Given the description of an element on the screen output the (x, y) to click on. 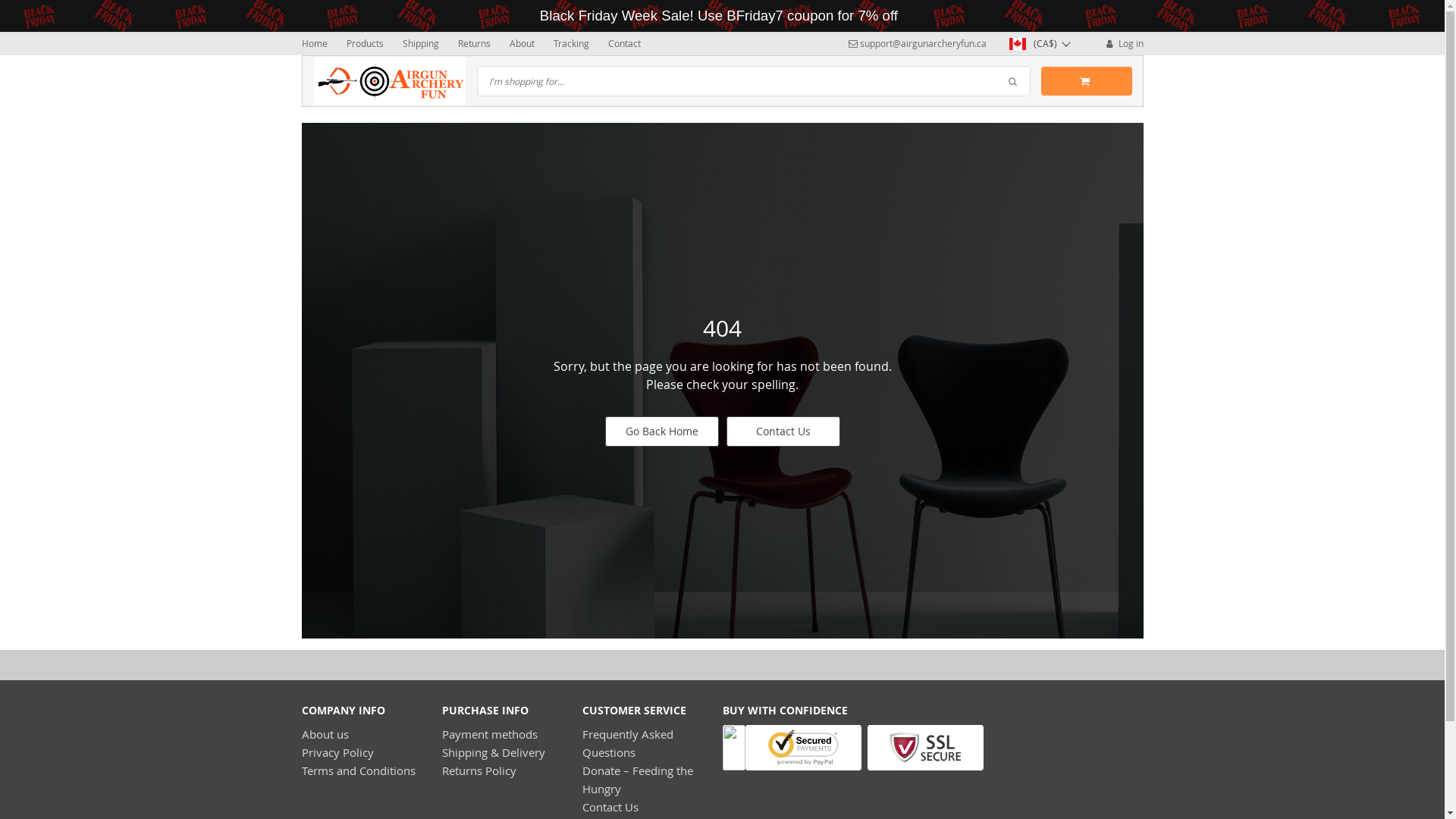
Shipping Element type: text (419, 42)
Frequently Asked Questions Element type: text (627, 742)
Returns Element type: text (474, 42)
Terms and Conditions Element type: text (358, 770)
Log in Element type: text (1123, 43)
Tracking Element type: text (571, 42)
Privacy Policy Element type: text (337, 751)
support@airgunarcheryfun.ca Element type: text (916, 43)
Contact Element type: text (624, 42)
Returns Policy Element type: text (478, 770)
Home Element type: text (314, 42)
Shipping & Delivery Element type: text (492, 751)
Contact Us Element type: text (610, 806)
Products Element type: text (363, 42)
Contact Us Element type: text (783, 431)
About us Element type: text (324, 733)
About Element type: text (521, 42)
Go Back Home Element type: text (661, 431)
Payment methods Element type: text (488, 733)
